Given the description of an element on the screen output the (x, y) to click on. 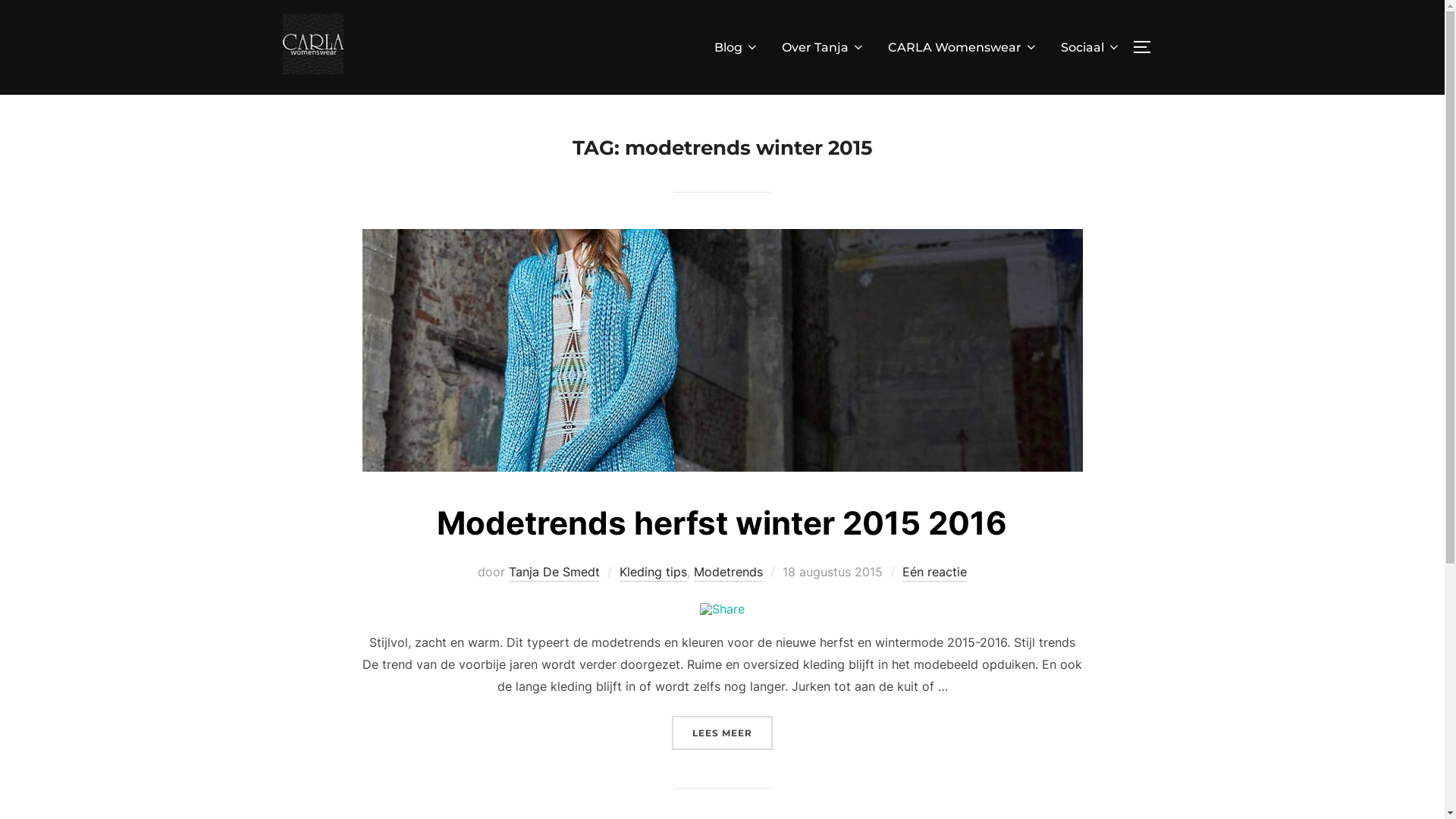
TOGGLE ZIJBALK & NAVIGATIE Element type: text (1146, 46)
Modetrends herfst winter 2015 2016 Element type: text (721, 522)
Kleding tips Element type: text (653, 572)
Blog Element type: text (736, 47)
Modetrends Element type: text (727, 572)
Over Tanja Element type: text (822, 47)
CARLA Womenswear Element type: text (962, 47)
Tanja De Smedt Element type: text (553, 572)
Sociaal Element type: text (1090, 47)
